Given the description of an element on the screen output the (x, y) to click on. 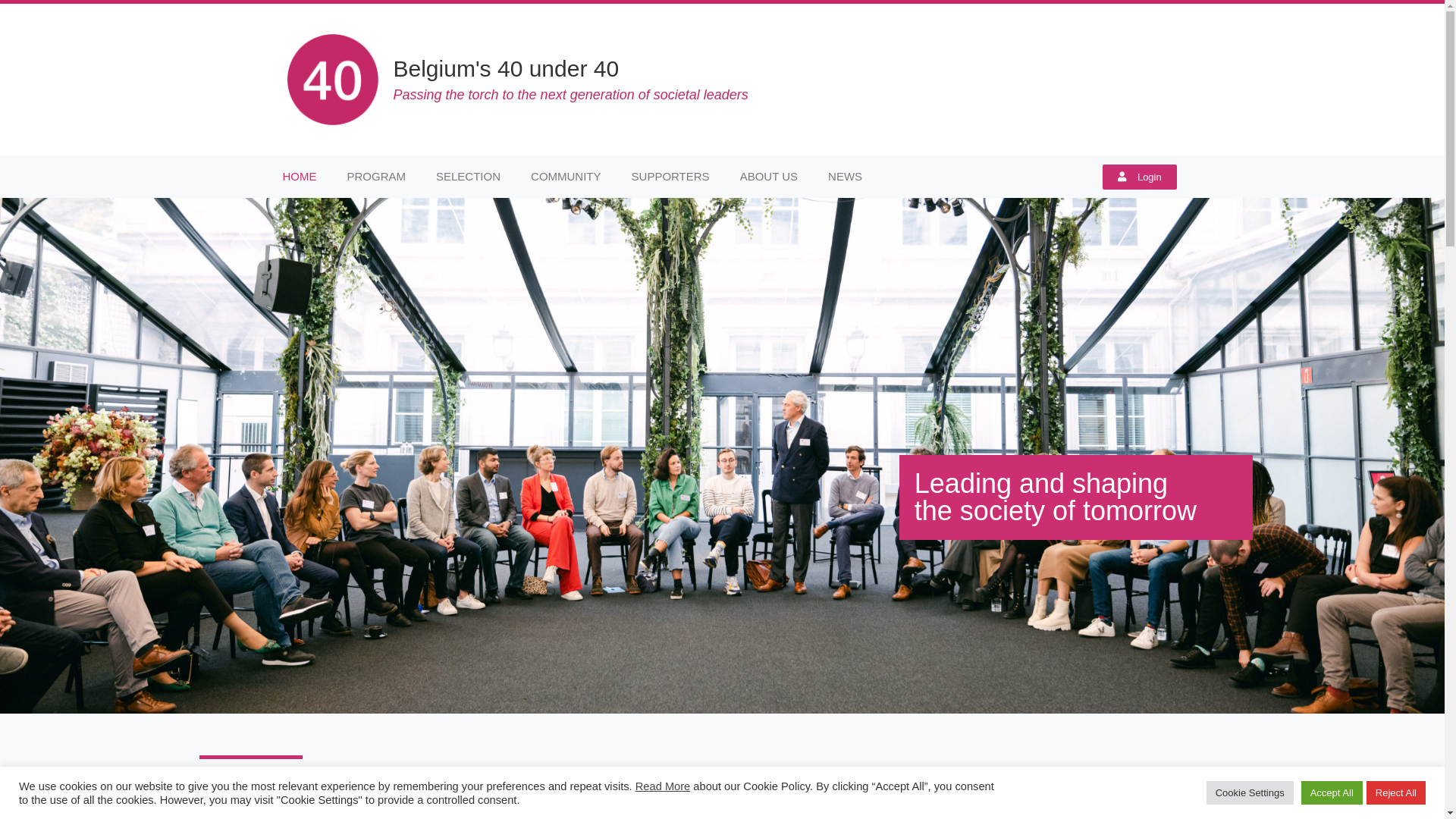
SELECTION Element type: text (467, 176)
Cookie Settings Element type: text (1249, 792)
Accept All Element type: text (1331, 792)
COMMUNITY Element type: text (565, 176)
Read More Element type: text (662, 785)
Login Element type: text (1139, 175)
Reject All Element type: text (1395, 792)
PROGRAM Element type: text (376, 176)
Belgium's 40 under 40 Element type: text (505, 68)
NEWS Element type: text (844, 176)
SUPPORTERS Element type: text (670, 176)
HOME Element type: text (298, 176)
ABOUT US Element type: text (768, 176)
